Given the description of an element on the screen output the (x, y) to click on. 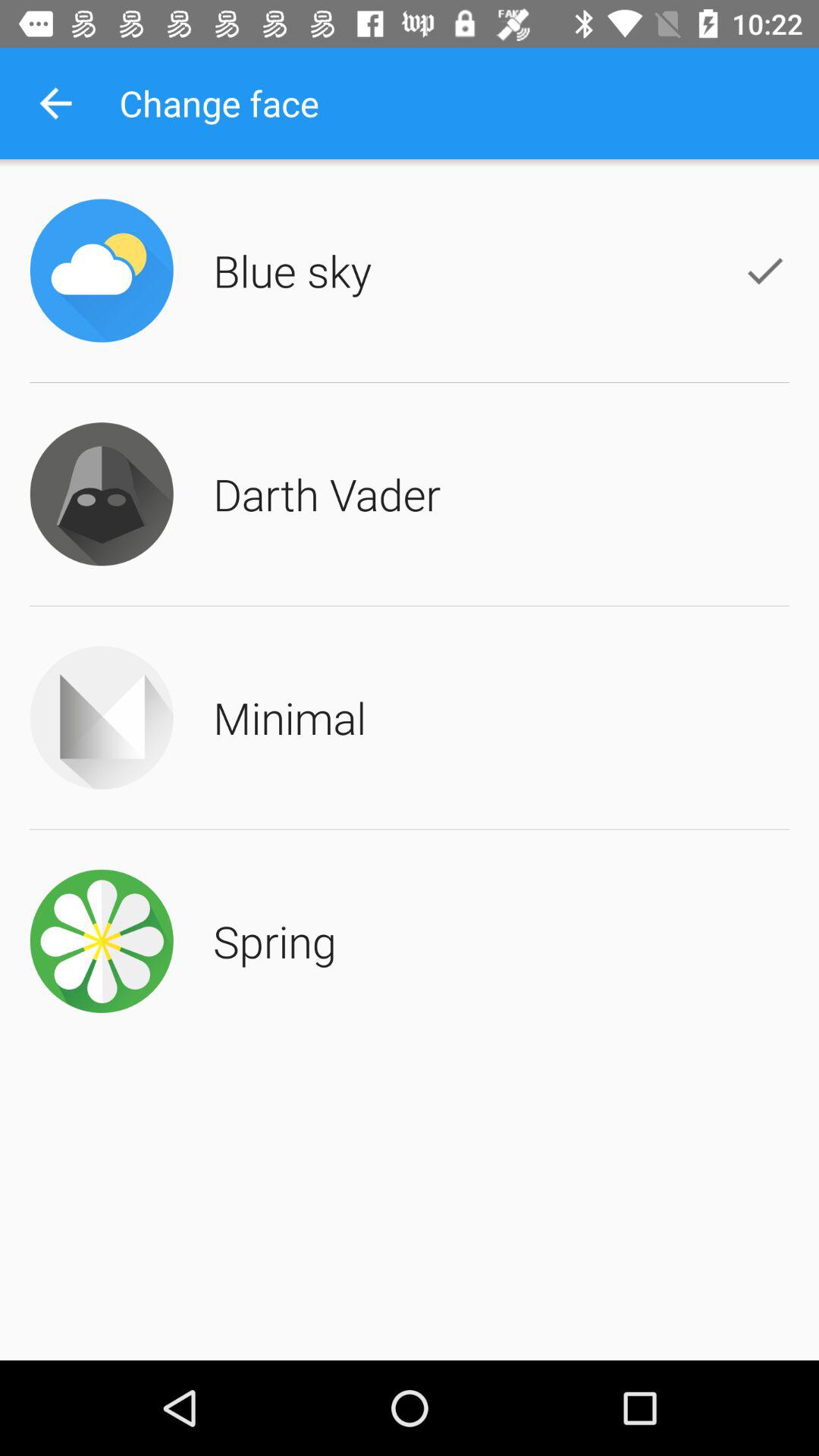
launch the minimal (289, 717)
